Given the description of an element on the screen output the (x, y) to click on. 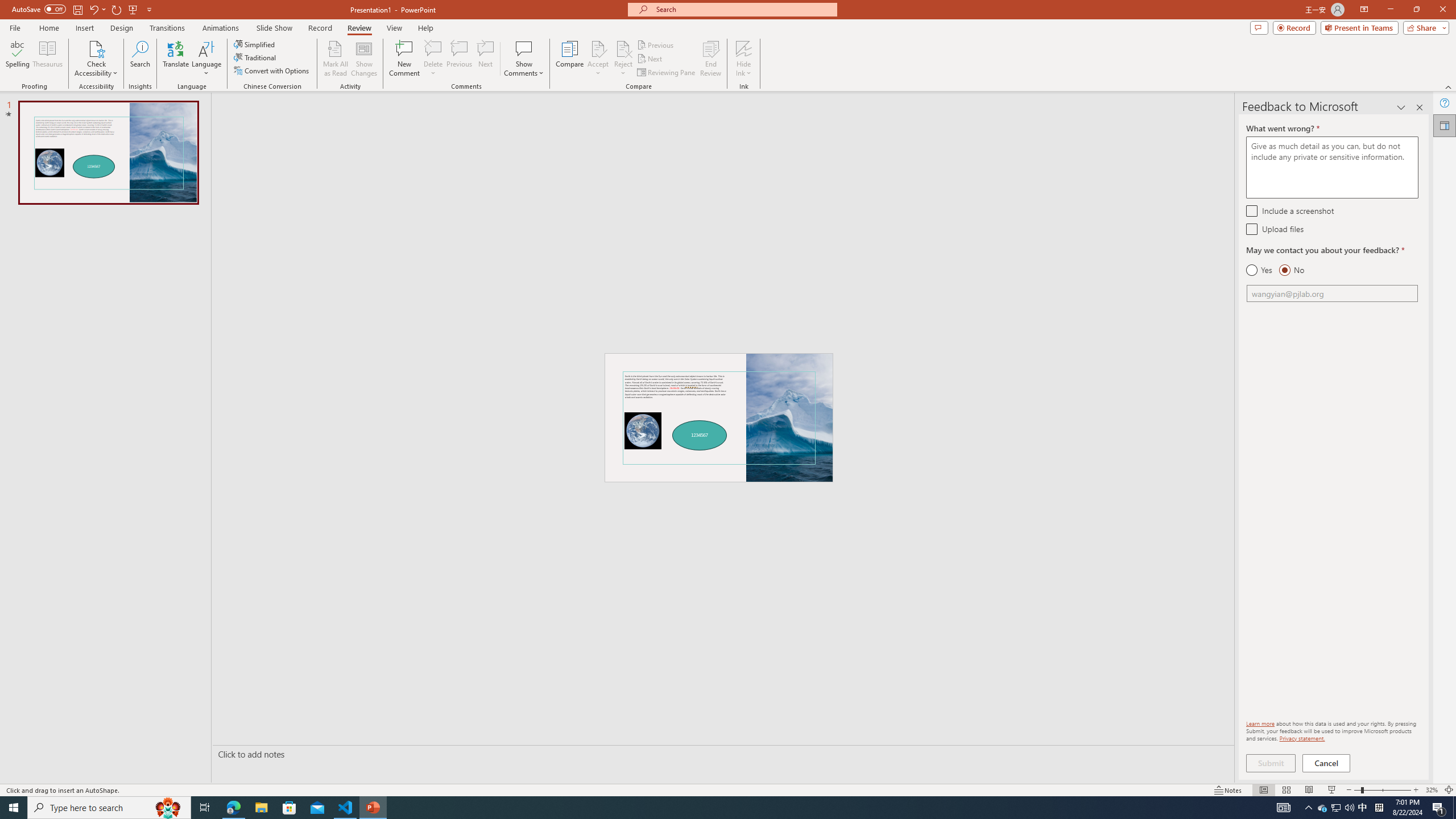
Include a screenshot (1251, 210)
Hide Ink (743, 48)
Mark All as Read (335, 58)
Check Accessibility (95, 58)
Submit (1270, 763)
Next (649, 58)
Show Changes (363, 58)
